Given the description of an element on the screen output the (x, y) to click on. 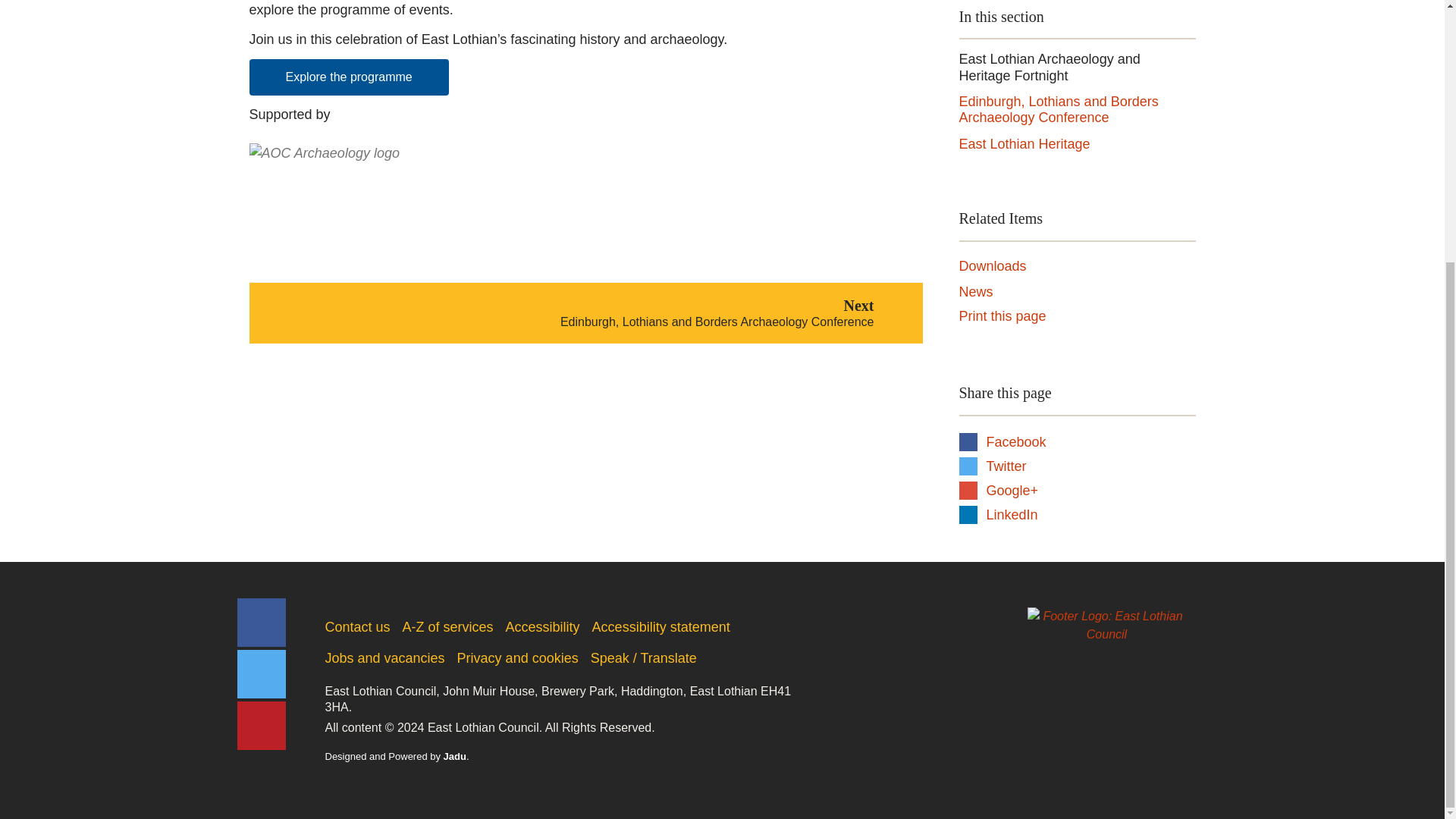
Watch our YouTube Channel (260, 725)
Homepage Link: East Lothian Council (1106, 625)
Explore the programme (348, 76)
Follow us on Twitter (992, 267)
Find us on Facebook (260, 674)
